Given the description of an element on the screen output the (x, y) to click on. 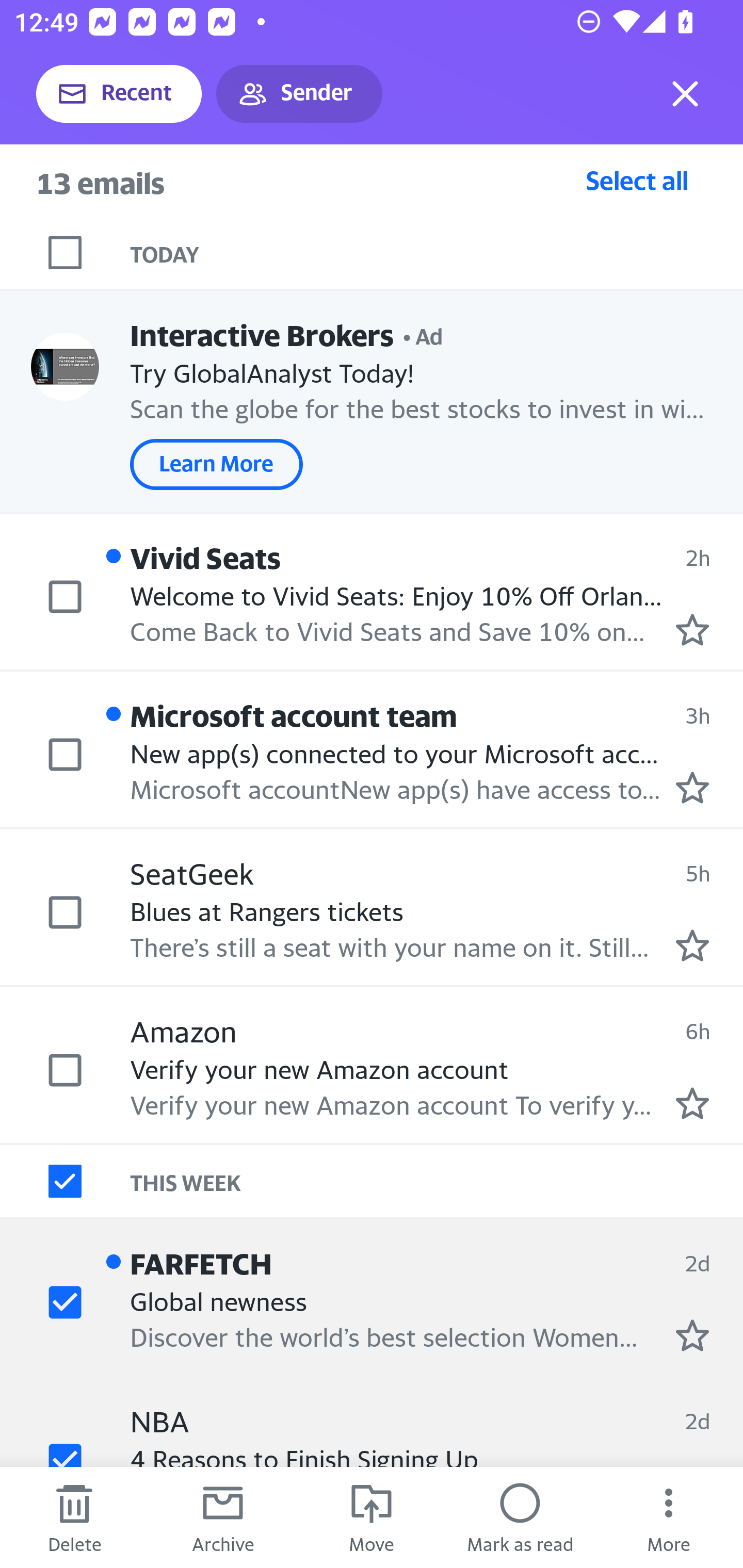
Sender (299, 93)
Exit selection mode (684, 93)
Select all (637, 180)
TODAY (436, 252)
Mark as starred. (692, 629)
Mark as starred. (692, 787)
Mark as starred. (692, 944)
Mark as starred. (692, 1103)
THIS WEEK (436, 1181)
Mark as starred. (692, 1335)
Delete (74, 1517)
Archive (222, 1517)
Move (371, 1517)
Mark as read (519, 1517)
More (668, 1517)
